Given the description of an element on the screen output the (x, y) to click on. 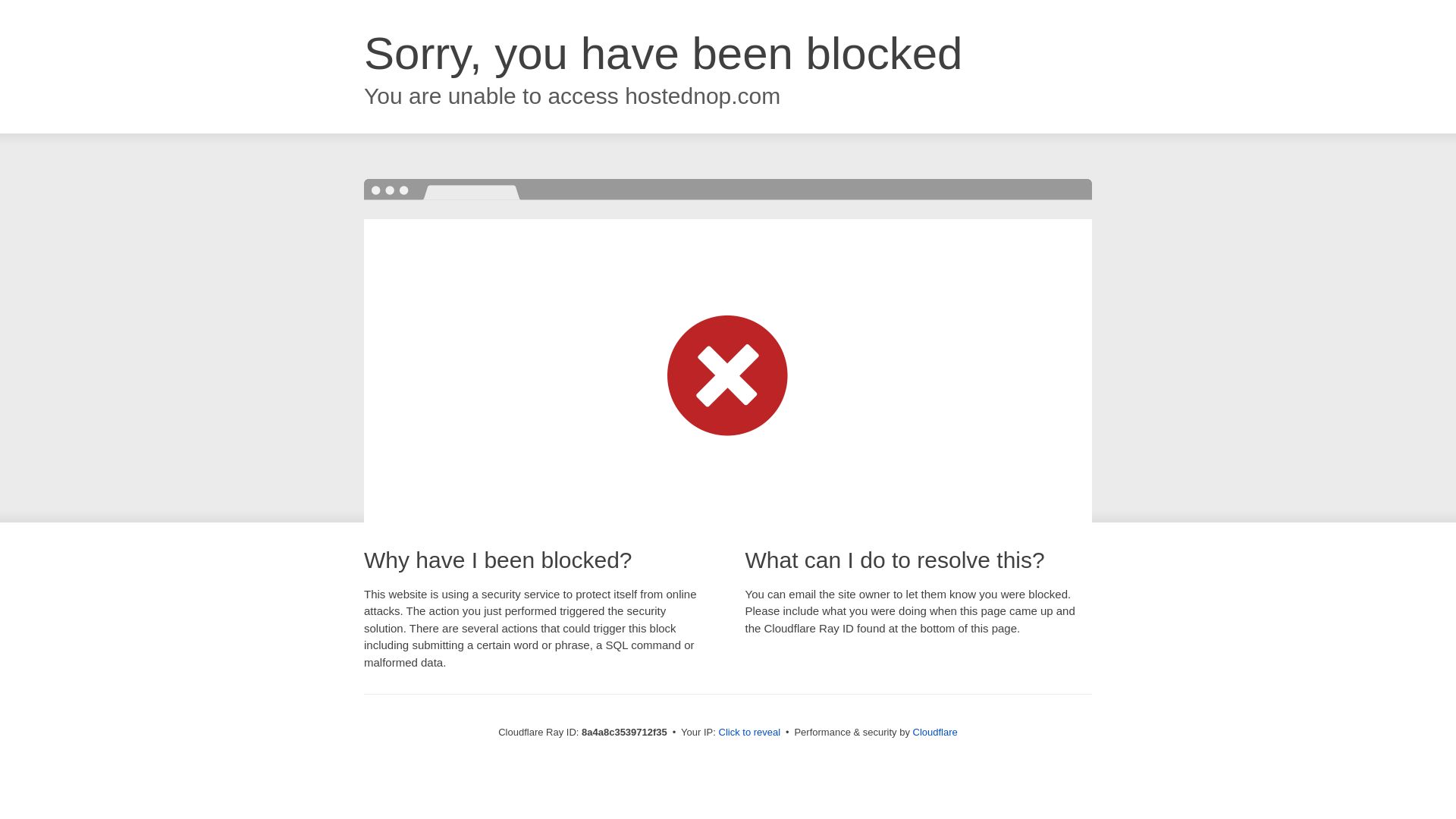
Click to reveal (749, 732)
Cloudflare (935, 731)
